Given the description of an element on the screen output the (x, y) to click on. 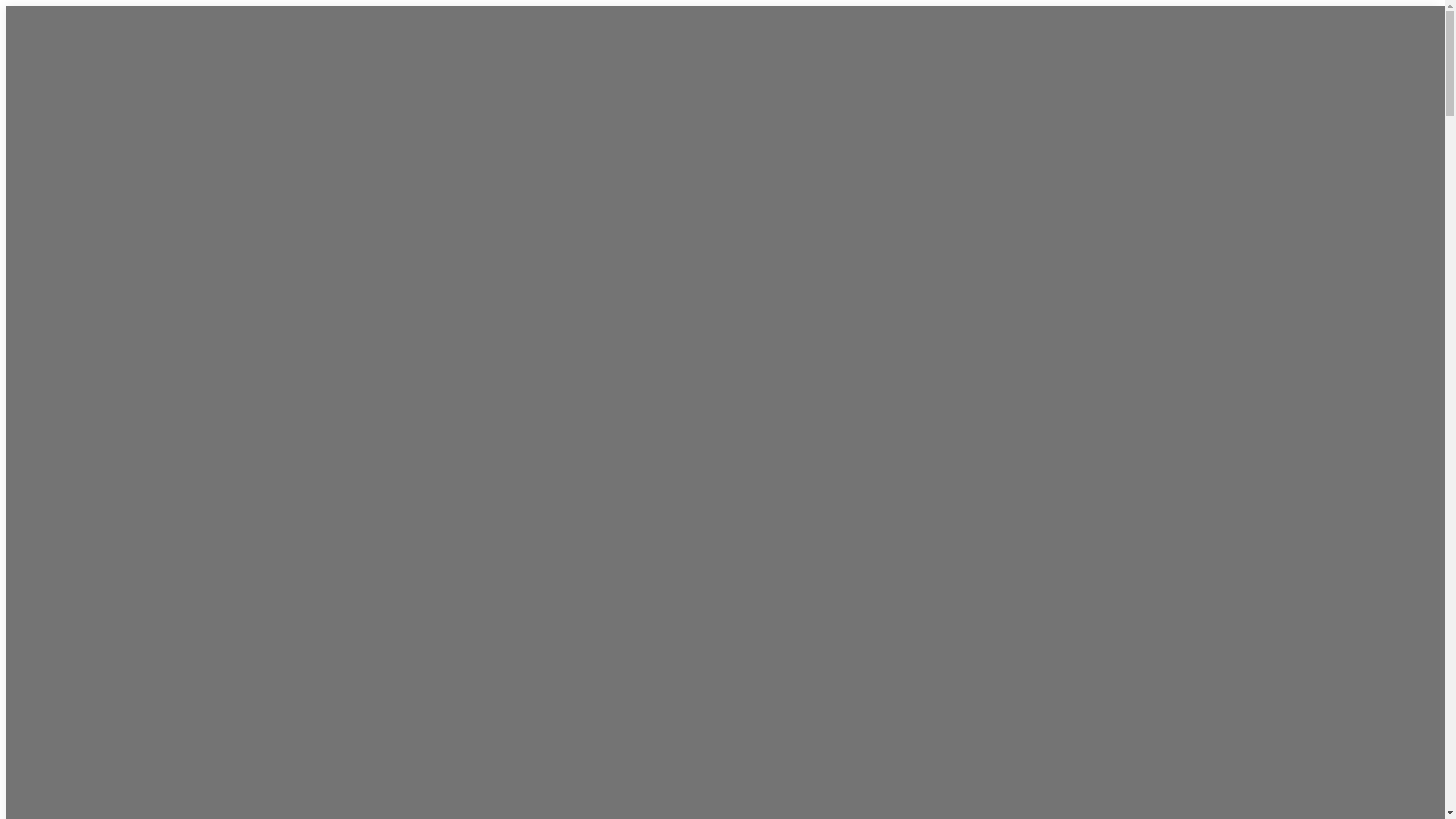
Easements Lawyers Element type: text (685, 242)
Peter Clarke Element type: text (666, 429)
Emmanuel Akinyemi Element type: text (689, 470)
Skip to content Element type: text (5, 5)
Waste Lawyers Element type: text (673, 262)
Meet our team Element type: text (727, 305)
Lesley Finn Element type: text (664, 408)
Compulsory Acquisition and Just Terms Compensation Element type: text (712, 191)
Go! Element type: text (1084, 536)
reception@honeslawyers.com.au Element type: text (949, 514)
Serafina Carrington Element type: text (684, 449)
Susan Hill Element type: text (660, 388)
Search form Element type: hover (1146, 486)
Suzy Whitty Element type: text (665, 490)
Environment and Planning Law Element type: text (715, 160)
Land and Environment Court: Royle v Debelak Element type: text (724, 627)
Local Government Law Element type: text (693, 221)
Environment & Planning Law: Brenham v North Sydney Council Element type: text (714, 749)
Land & Environment Court: Wollondilly Shire Council Element type: text (727, 790)
Land and Environment Court Lawyers Element type: text (705, 129)
02 8318 0788 Element type: text (918, 496)
Jason Hones Element type: text (667, 347)
Land & Environment Court: Fenwick v Woodside Properties Element type: text (725, 668)
Case Studies Element type: text (727, 533)
Gavin Shapiro Element type: text (670, 367)
Environment & Planning Law: Saada v North Sydney Council Element type: text (726, 709)
What We Do Element type: text (724, 76)
